Given the description of an element on the screen output the (x, y) to click on. 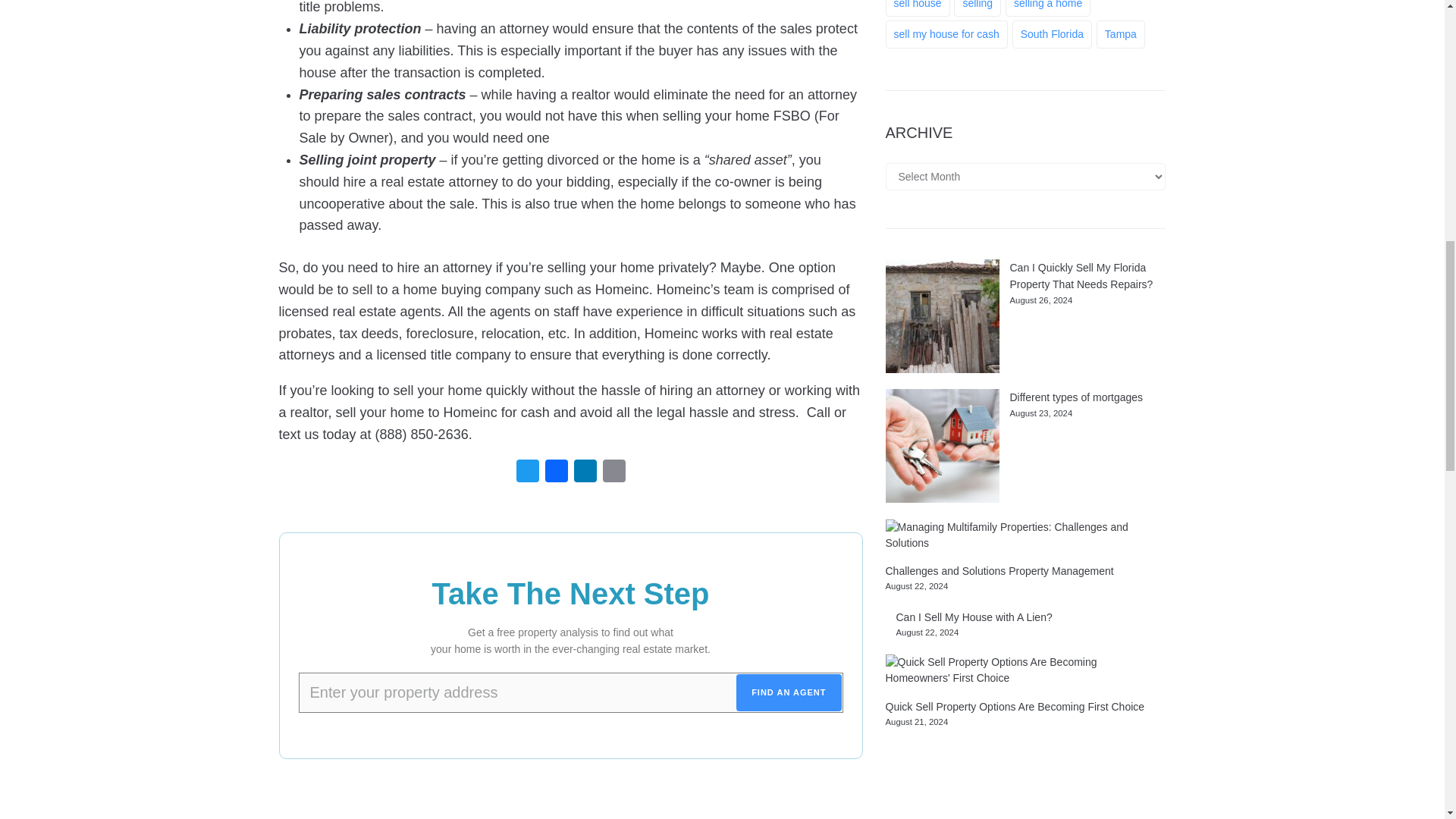
Email (612, 474)
LinkedIn (584, 474)
Facebook (555, 474)
FIND AN AGENT (788, 692)
Email (612, 474)
Facebook (555, 474)
Twitter (526, 474)
Twitter (526, 474)
LinkedIn (584, 474)
